Given the description of an element on the screen output the (x, y) to click on. 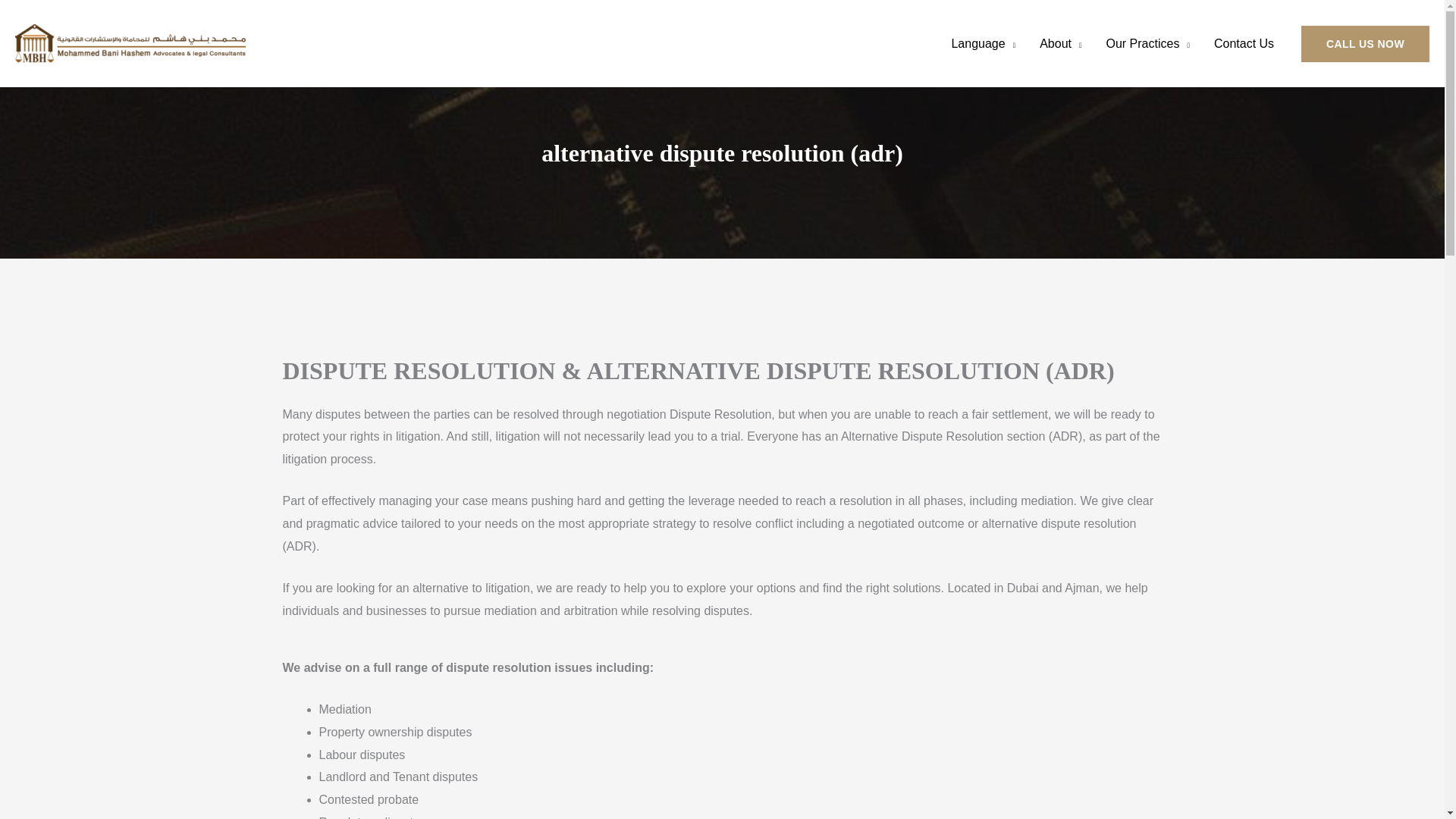
Language (983, 42)
About (1060, 42)
CALL US NOW (1365, 43)
Our Practices (1147, 42)
Contact Us (1243, 42)
